Given the description of an element on the screen output the (x, y) to click on. 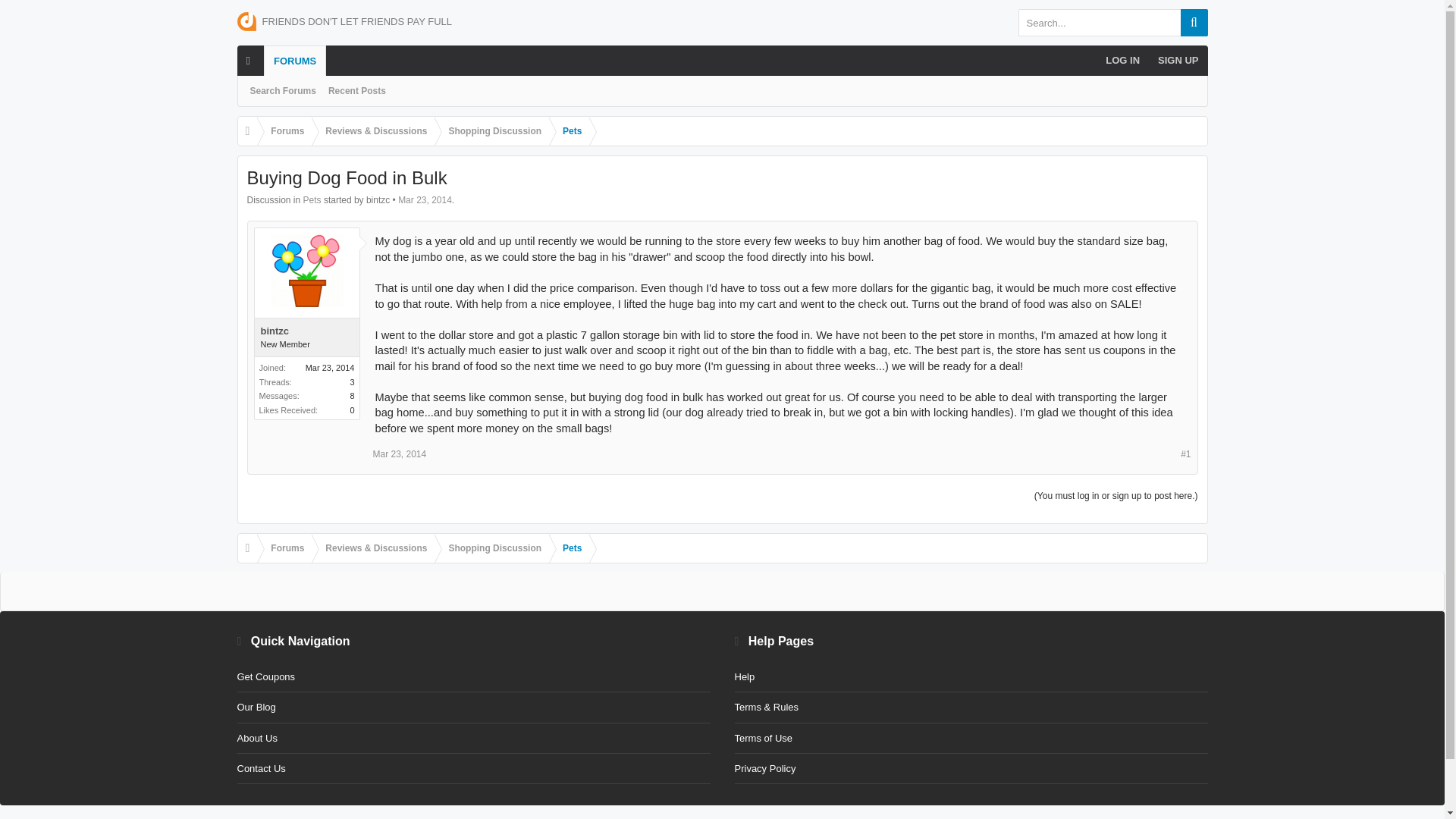
Mar 23, 2014 at 00:23 (424, 199)
Mar 23, 2014 (399, 453)
SIGN UP (1177, 60)
Forums (284, 131)
Enter your search and hit enter (1112, 22)
Shopping Discussion (490, 131)
Mar 23, 2014 (424, 199)
Pets (568, 131)
Recent Posts (356, 91)
Permalink (399, 453)
